Given the description of an element on the screen output the (x, y) to click on. 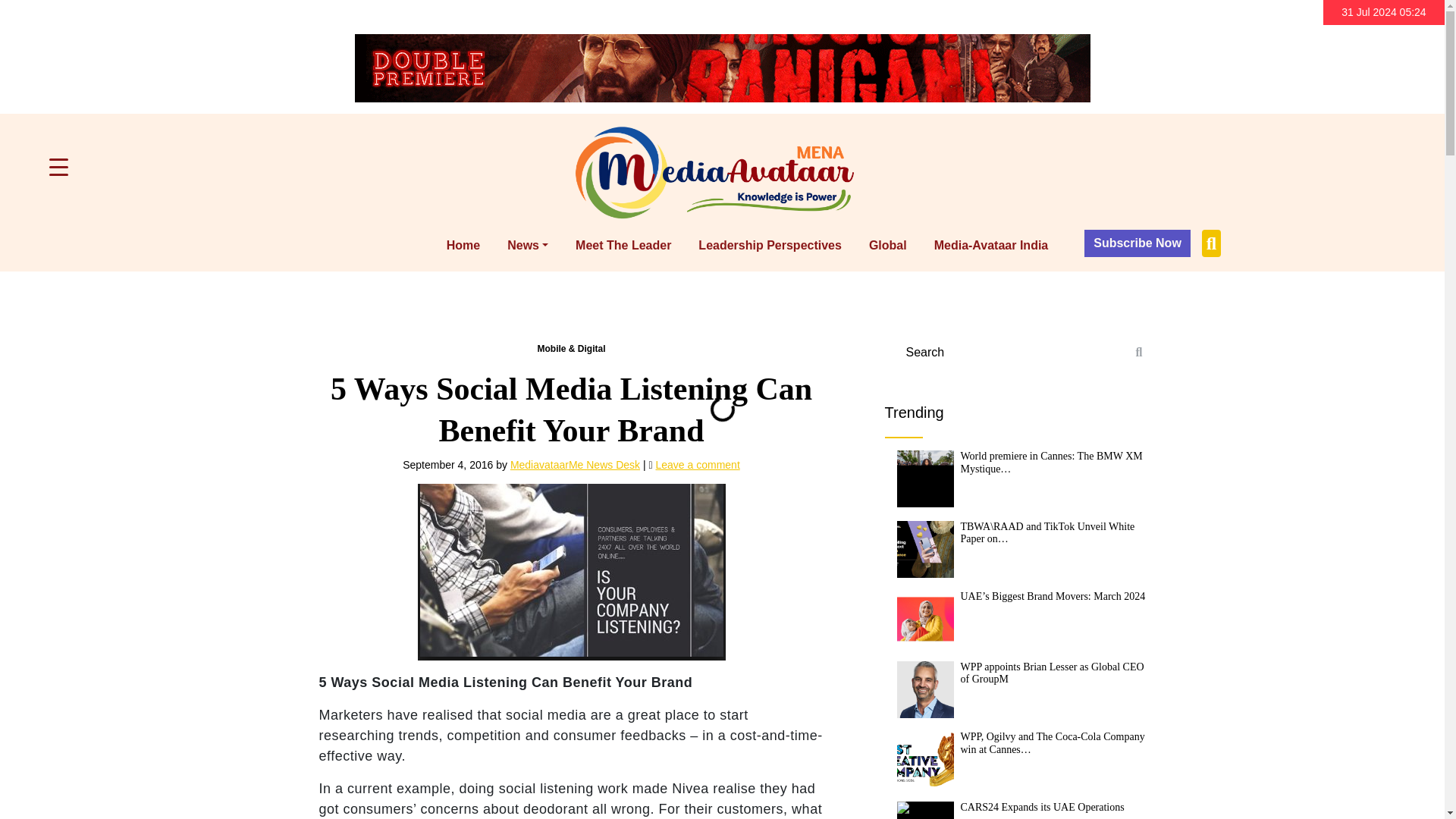
Global (887, 245)
News (527, 245)
Subscribe Now (1137, 243)
Meet The Leader (623, 245)
Home (463, 245)
Media-Avataar India (991, 245)
UAE's Biggest Brand Movers: March 2024 (924, 618)
WPP appoints Brian Lesser as Global CEO of GroupM (924, 689)
CARS24 Expands its UAE Operations (924, 809)
Leadership Perspectives (770, 245)
